Given the description of an element on the screen output the (x, y) to click on. 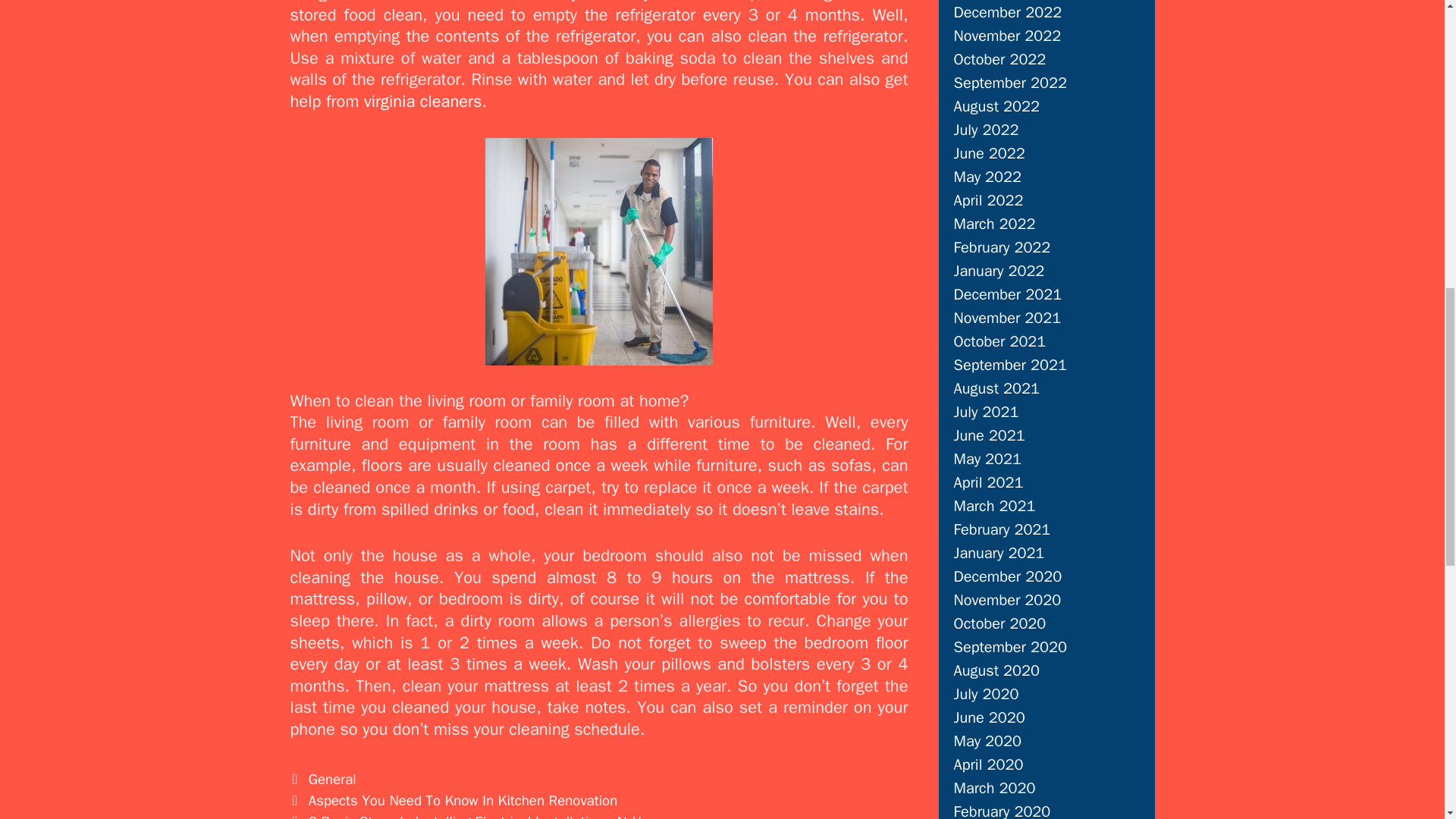
2 Basic Steps In Installing Electrical Installations At Home (488, 816)
Previous (453, 800)
Next (478, 816)
Aspects You Need To Know In Kitchen Renovation (462, 800)
virginia cleaners (422, 101)
General (332, 779)
